Given the description of an element on the screen output the (x, y) to click on. 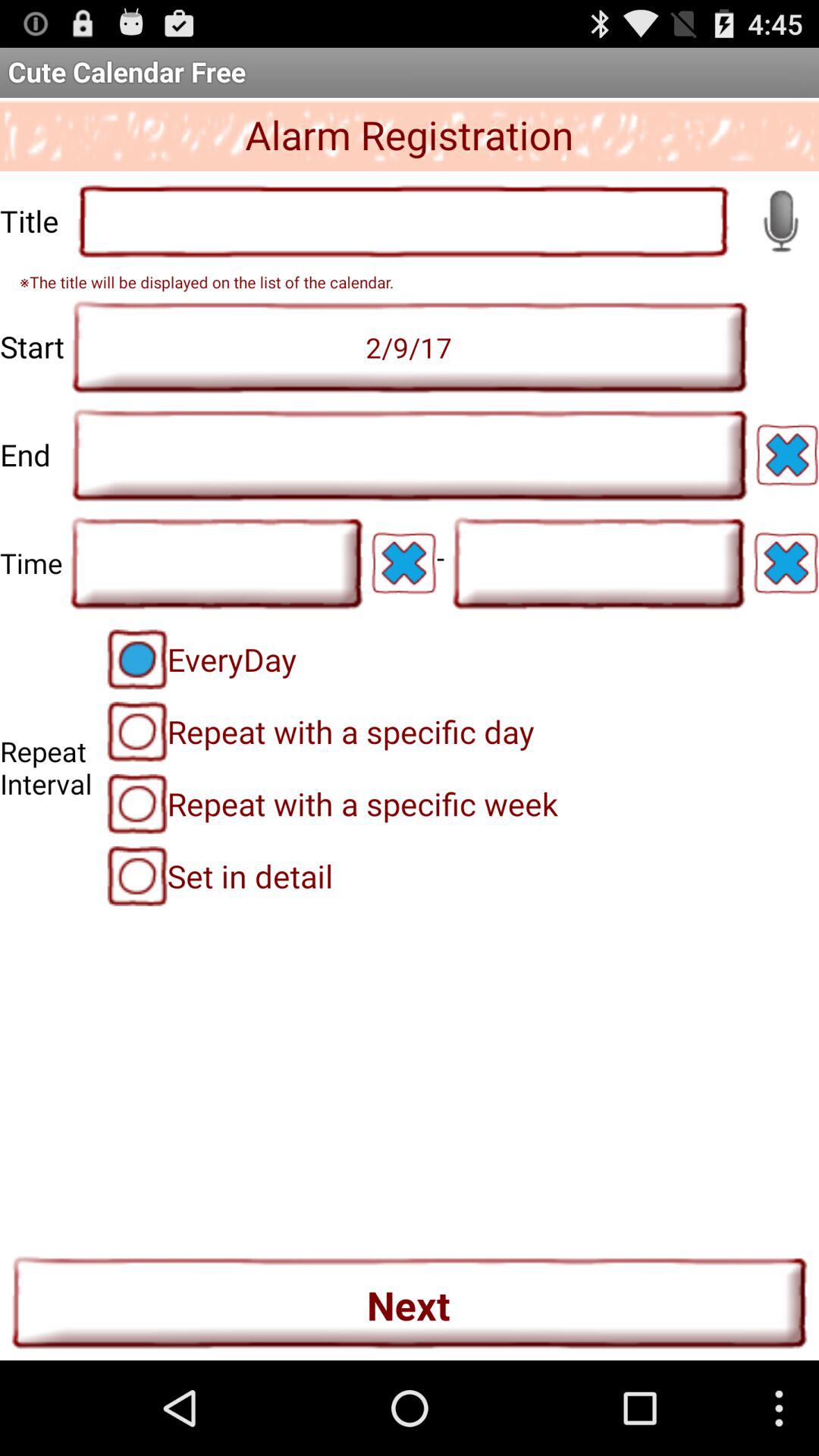
delete what i typed (786, 562)
